Given the description of an element on the screen output the (x, y) to click on. 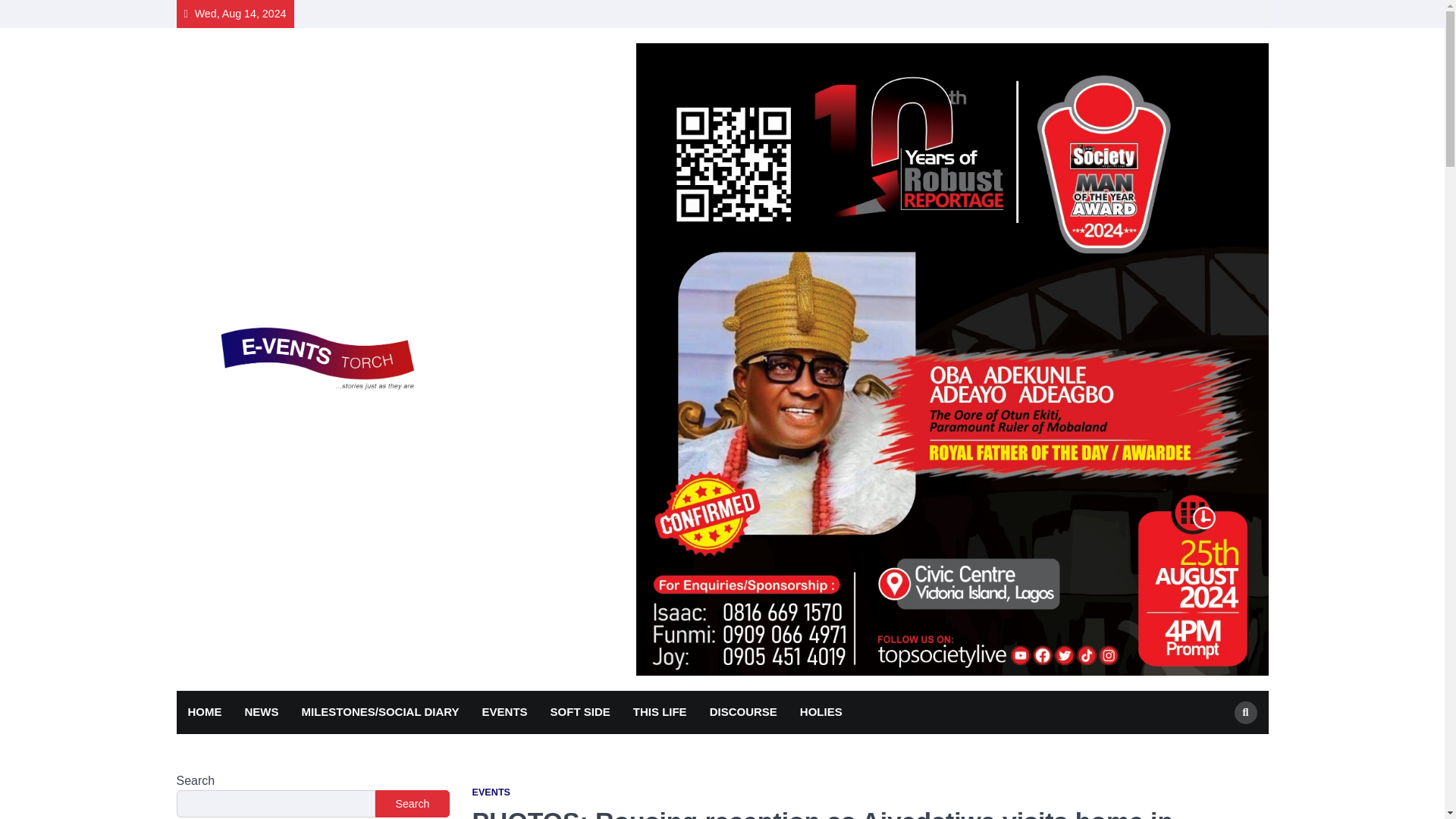
View Random Post (1249, 13)
HOLIES (821, 712)
Search (1217, 748)
NEWS (260, 712)
DISCOURSE (743, 712)
THIS LIFE (659, 712)
SOFT SIDE (579, 712)
EVENTS (504, 712)
HOME (204, 712)
EVENTS (491, 792)
